Given the description of an element on the screen output the (x, y) to click on. 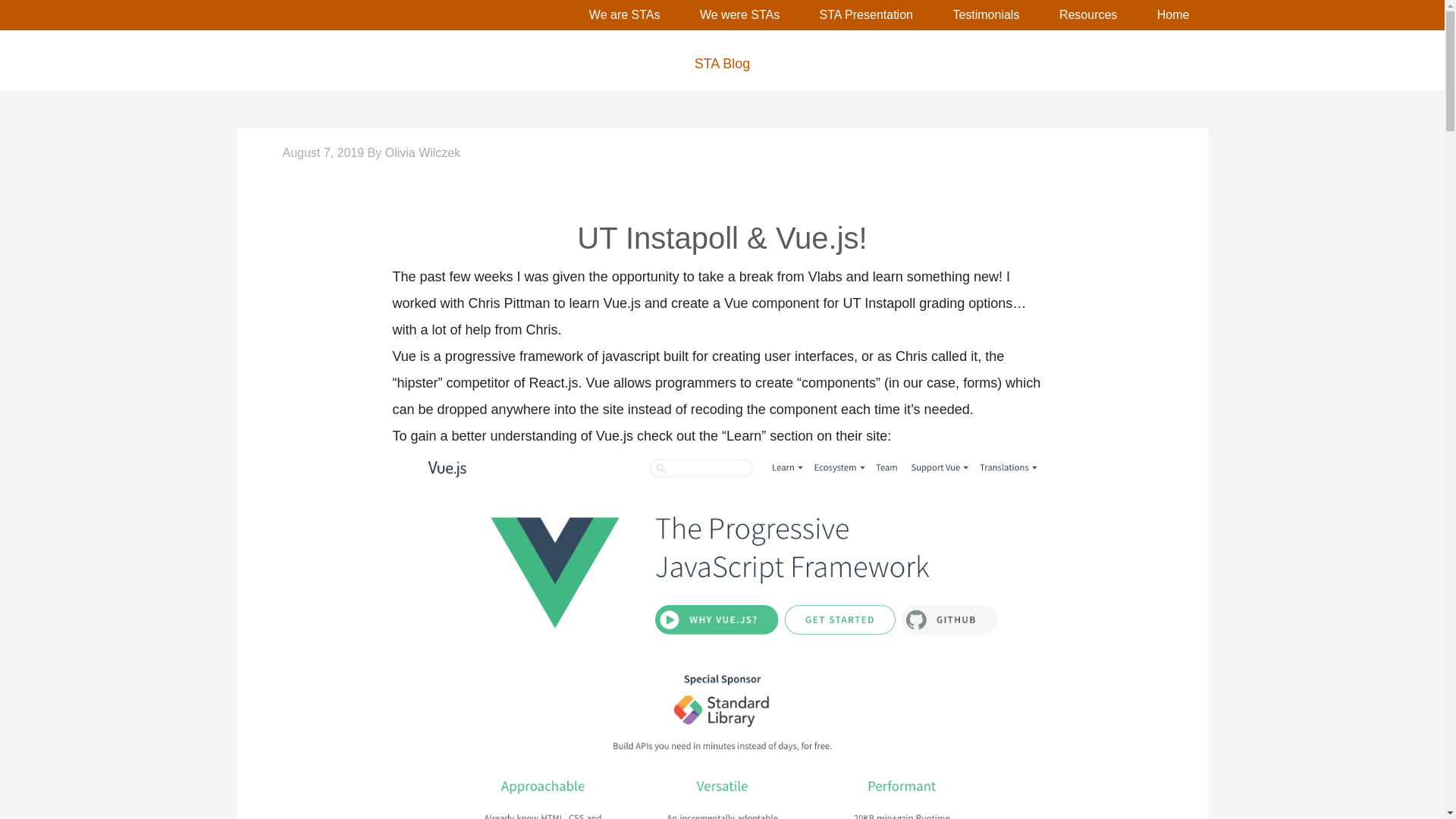
We were STAs (739, 15)
Olivia Wilczek (423, 152)
STA Blog (721, 64)
Testimonials (985, 15)
STA Presentation (866, 15)
Resources (1088, 15)
We are STAs (624, 15)
Home (1173, 15)
